Given the description of an element on the screen output the (x, y) to click on. 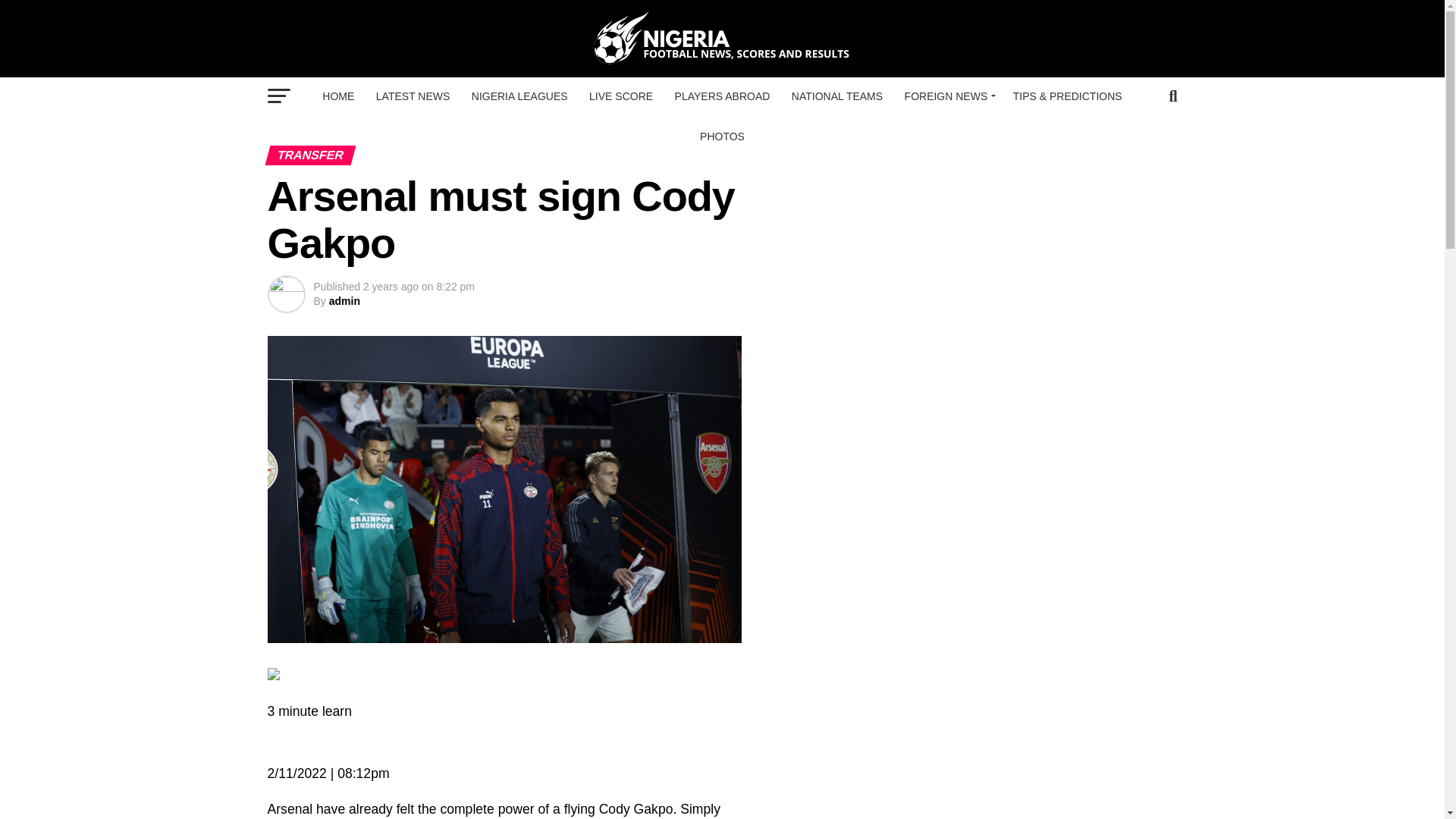
LIVE SCORE (620, 95)
HOME (337, 95)
LATEST NEWS (413, 95)
NIGERIA LEAGUES (519, 95)
PLAYERS ABROAD (721, 95)
NATIONAL TEAMS (837, 95)
